Given the description of an element on the screen output the (x, y) to click on. 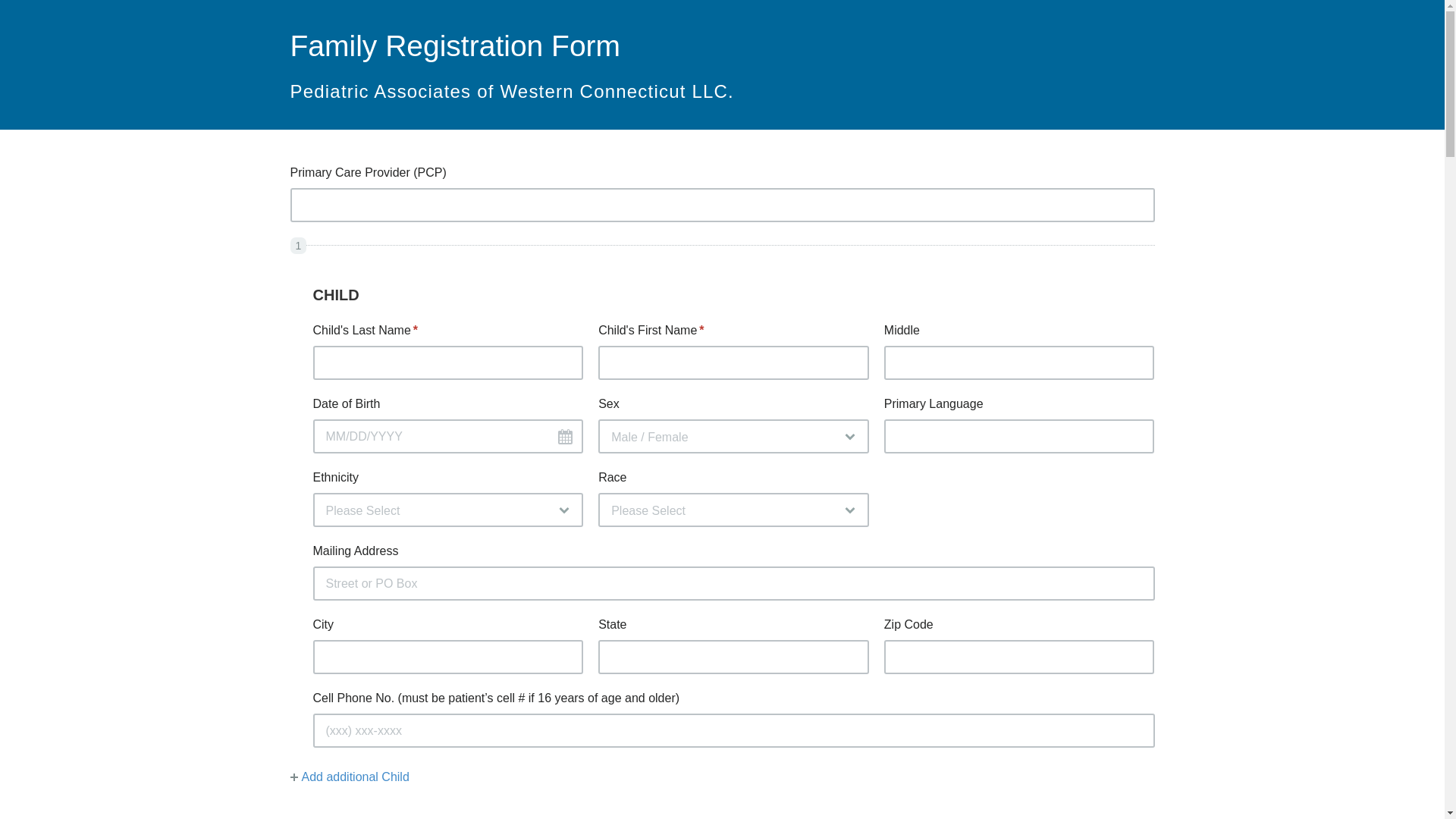
Please Select (448, 510)
Please Select (733, 510)
Add additional Child (349, 776)
